Given the description of an element on the screen output the (x, y) to click on. 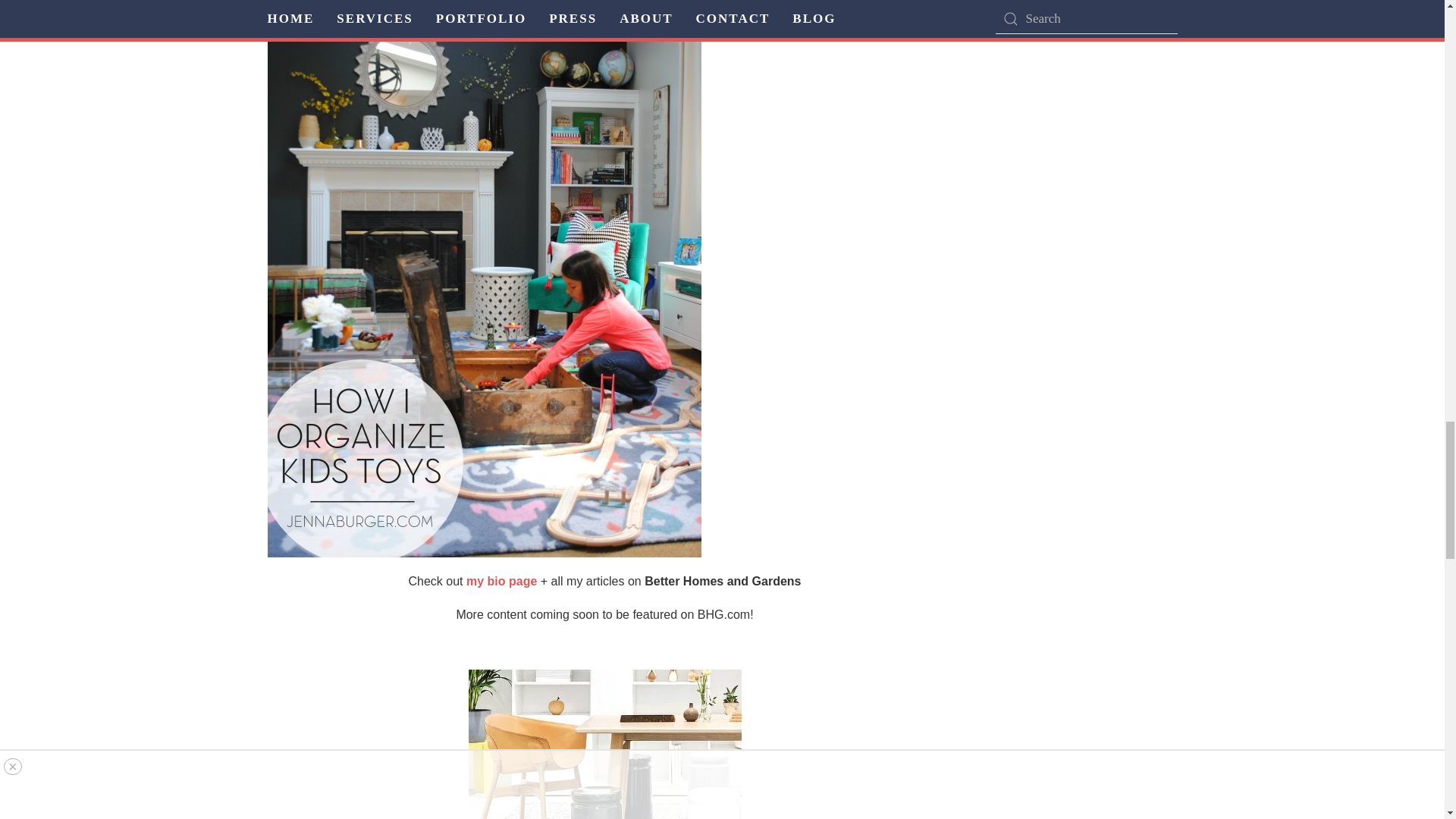
my bio page (501, 581)
